Given the description of an element on the screen output the (x, y) to click on. 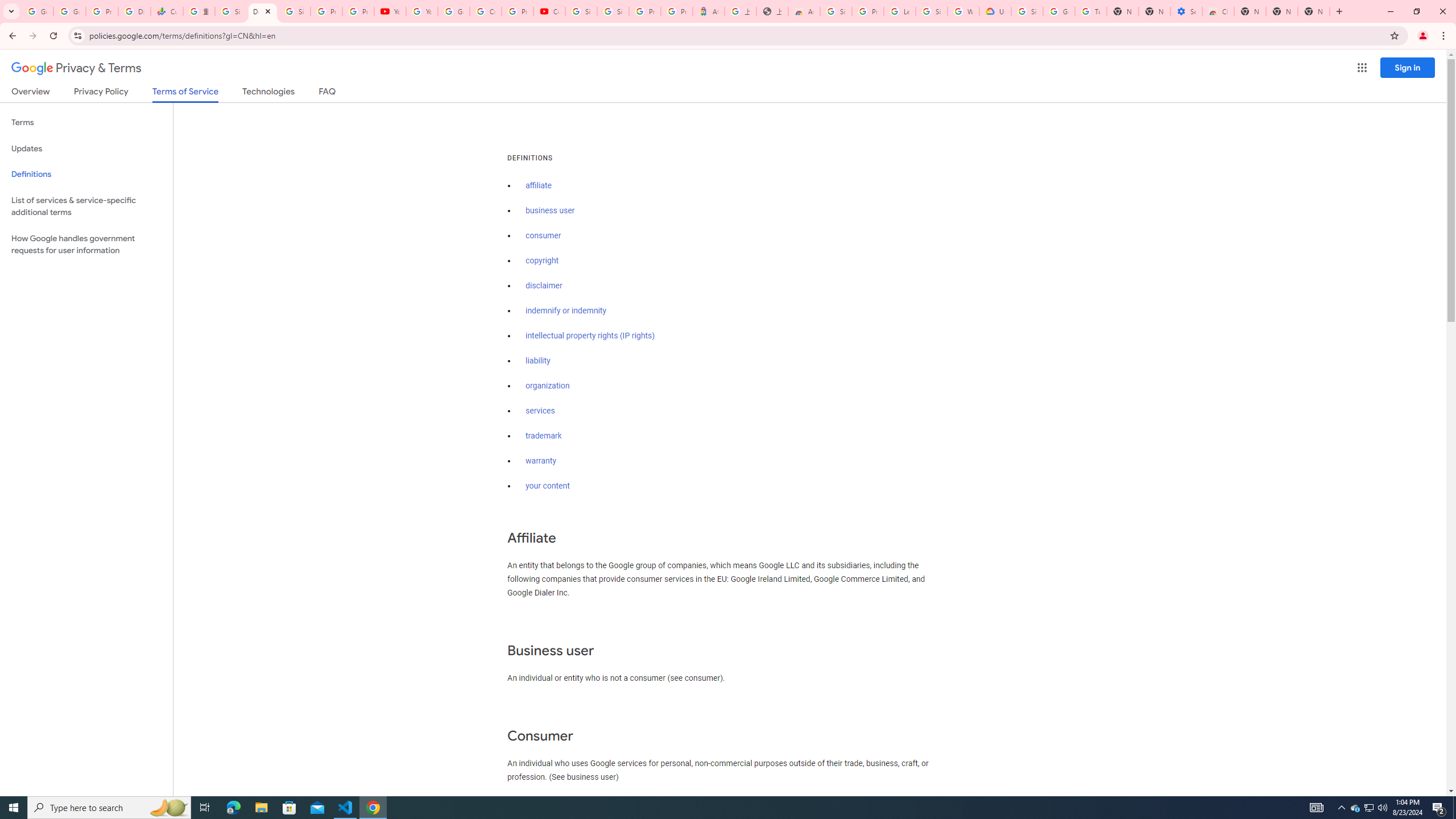
Google Account Help (453, 11)
trademark (543, 435)
New Tab (1313, 11)
Sign in - Google Accounts (1027, 11)
YouTube (421, 11)
affiliate (538, 185)
Turn cookies on or off - Computer - Google Account Help (1091, 11)
disclaimer (543, 285)
warranty (540, 461)
